Given the description of an element on the screen output the (x, y) to click on. 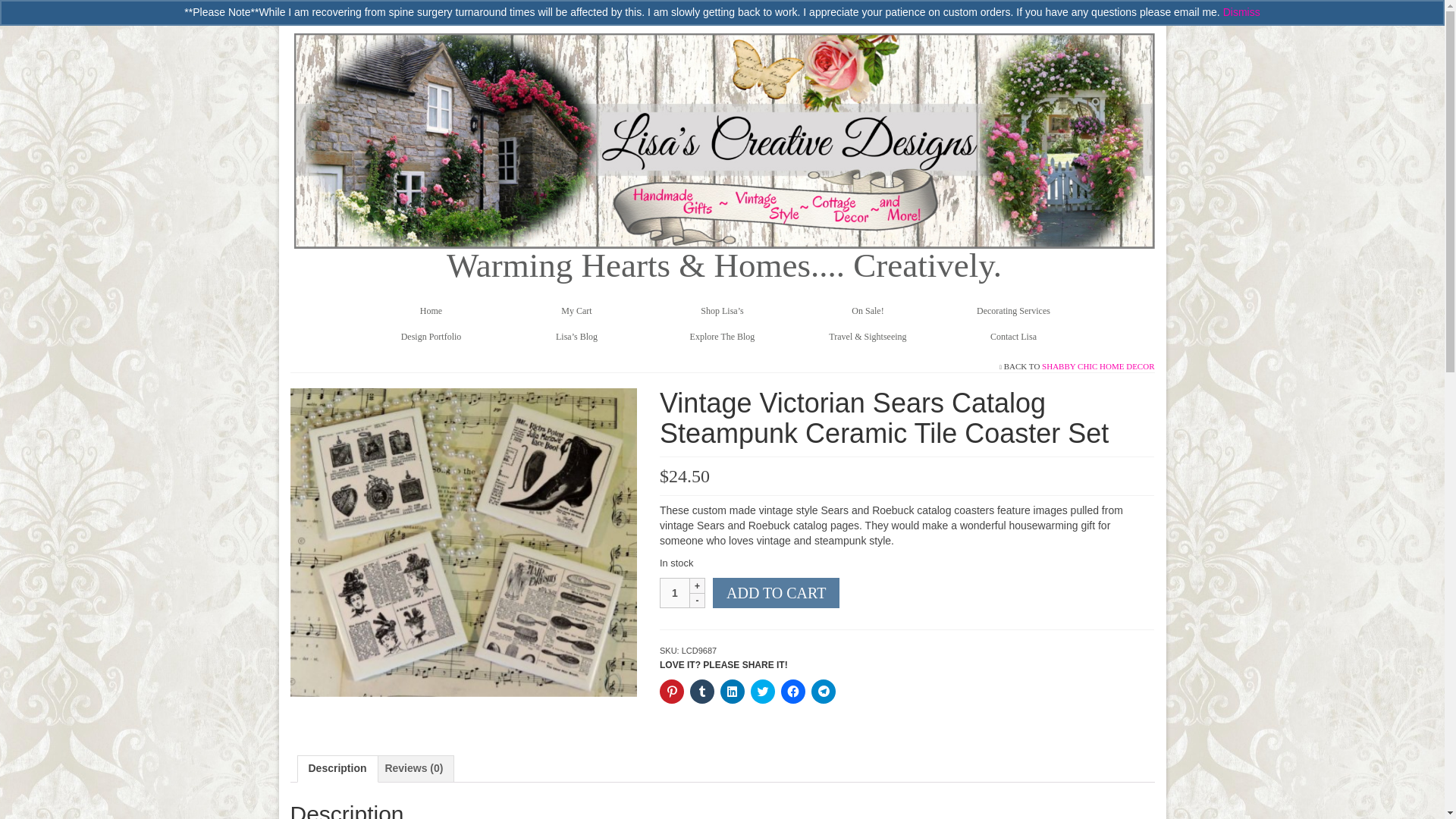
View your shopping cart (333, 12)
- (697, 600)
Click to share on Tumblr (702, 691)
Click to share on Pinterest (671, 691)
1 (674, 593)
Home (430, 310)
Click to share on LinkedIn (732, 691)
Click to share on Facebook (792, 691)
Click to share on Twitter (762, 691)
Click to share on Telegram (822, 691)
